Given the description of an element on the screen output the (x, y) to click on. 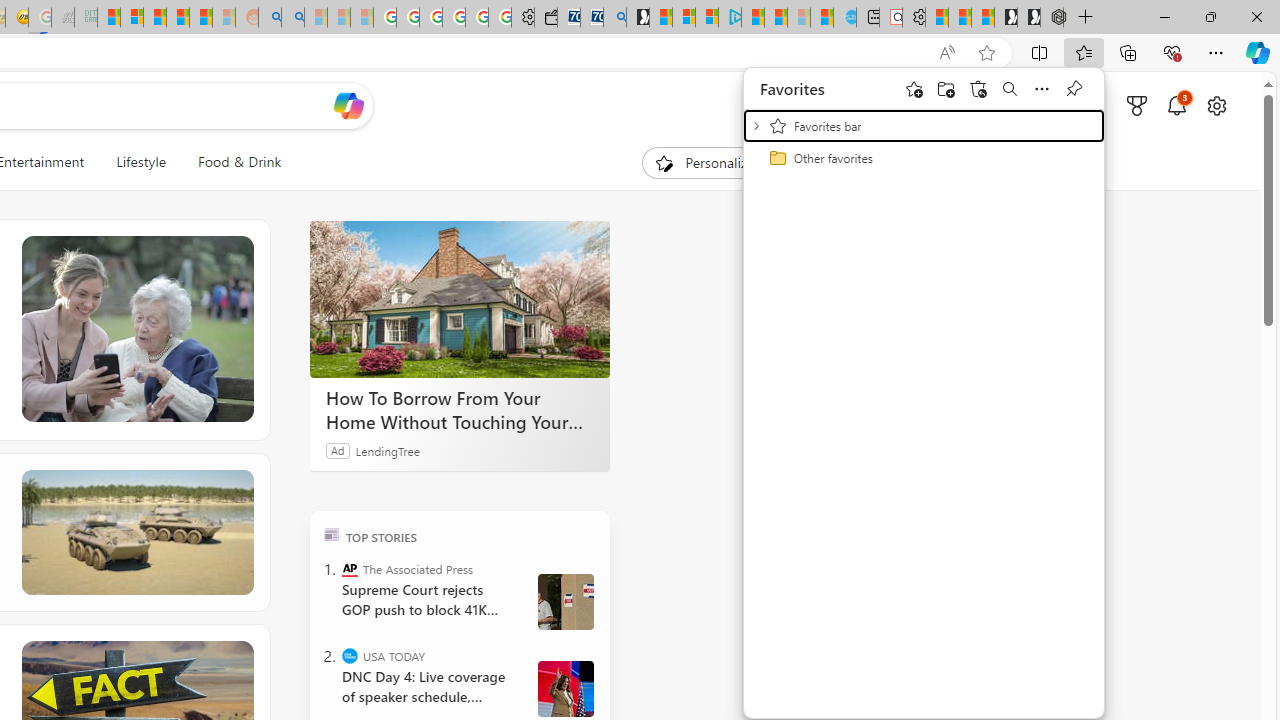
Add this page to favorites (913, 88)
Wallet (545, 17)
Restore deleted favorites (977, 88)
